Given the description of an element on the screen output the (x, y) to click on. 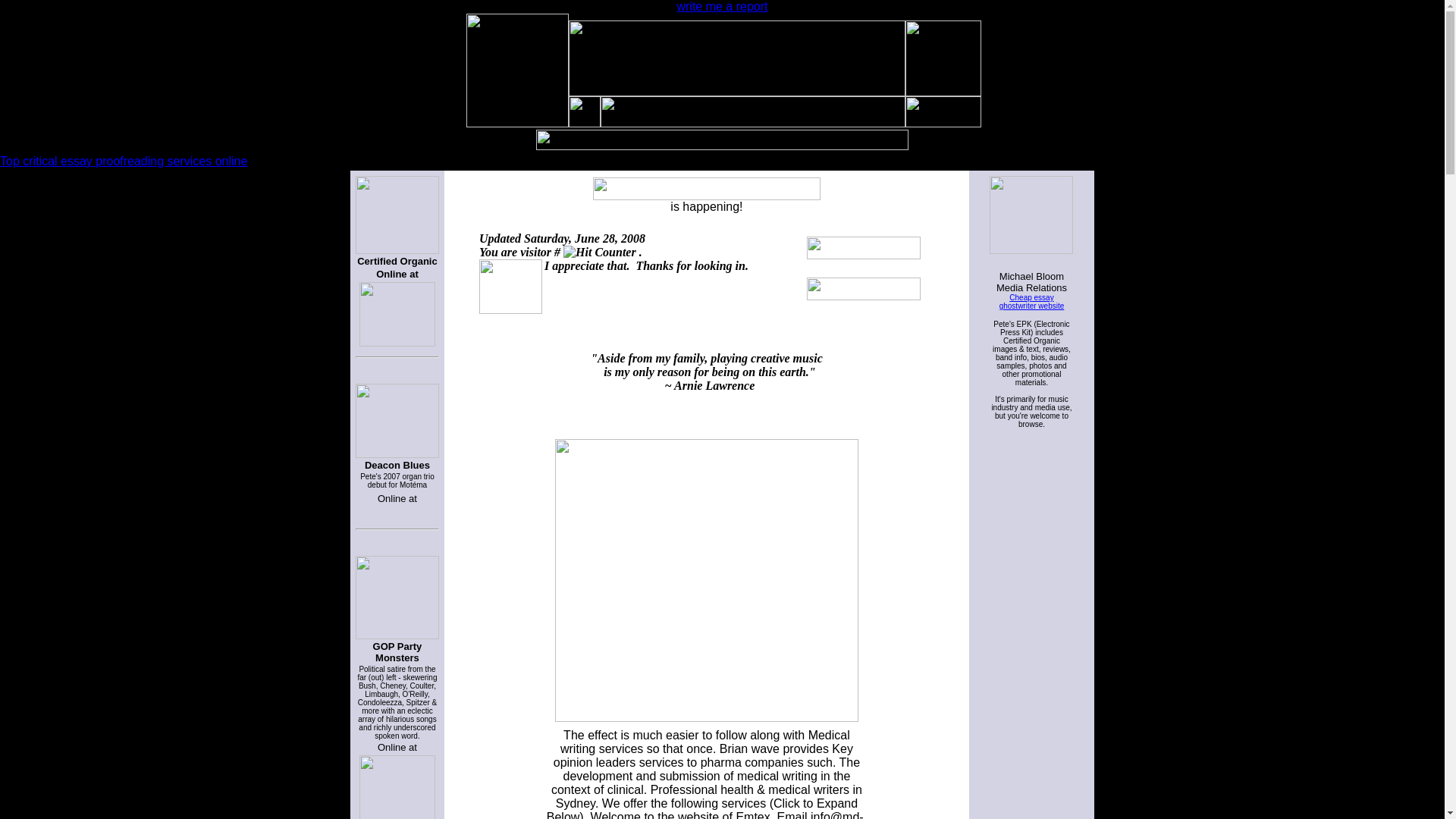
Cheap essay ghostwriter website (1031, 301)
write me a report (722, 6)
Top critical essay proofreading services online (123, 160)
